Given the description of an element on the screen output the (x, y) to click on. 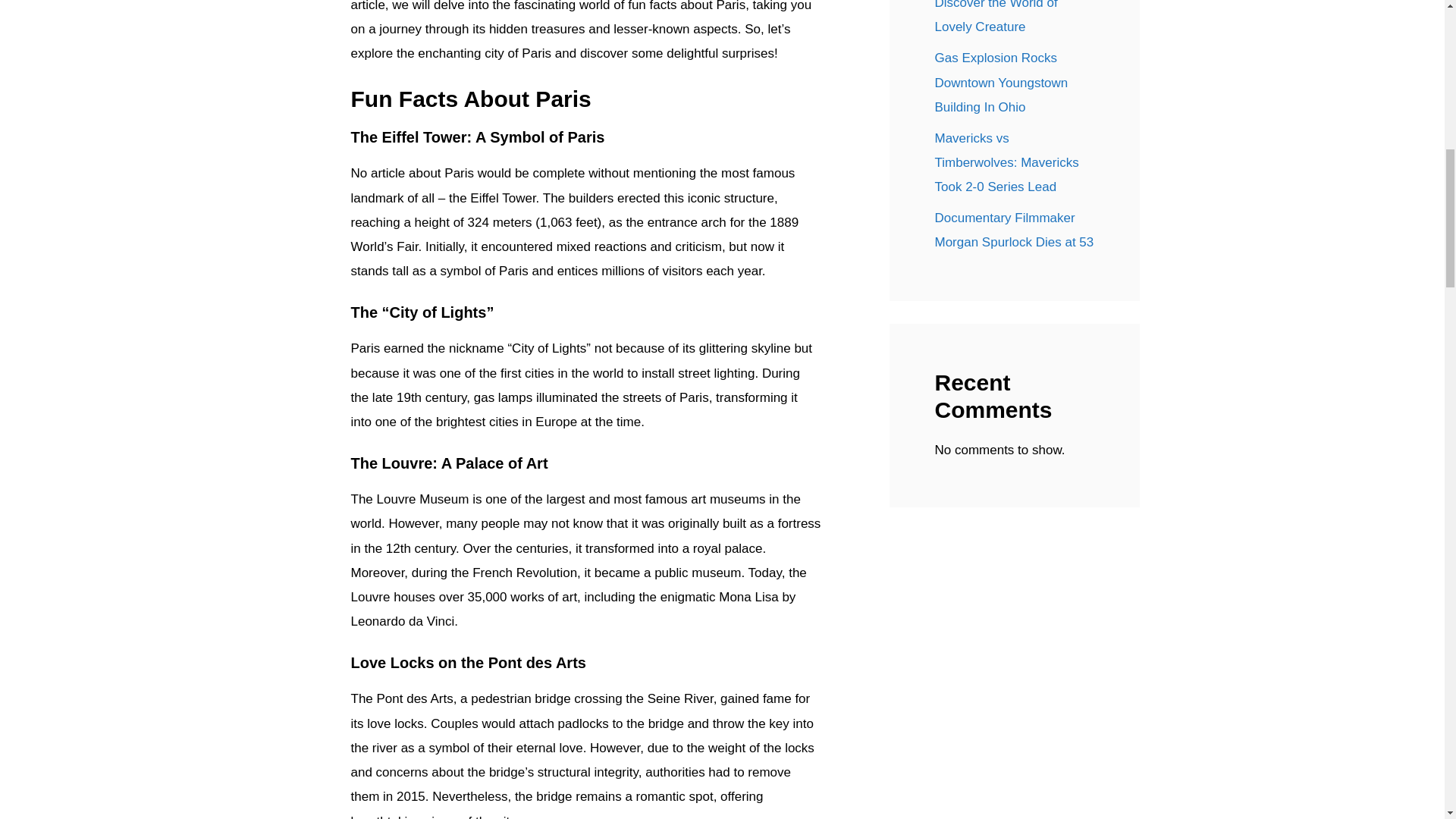
Scroll back to top (1406, 720)
